Given the description of an element on the screen output the (x, y) to click on. 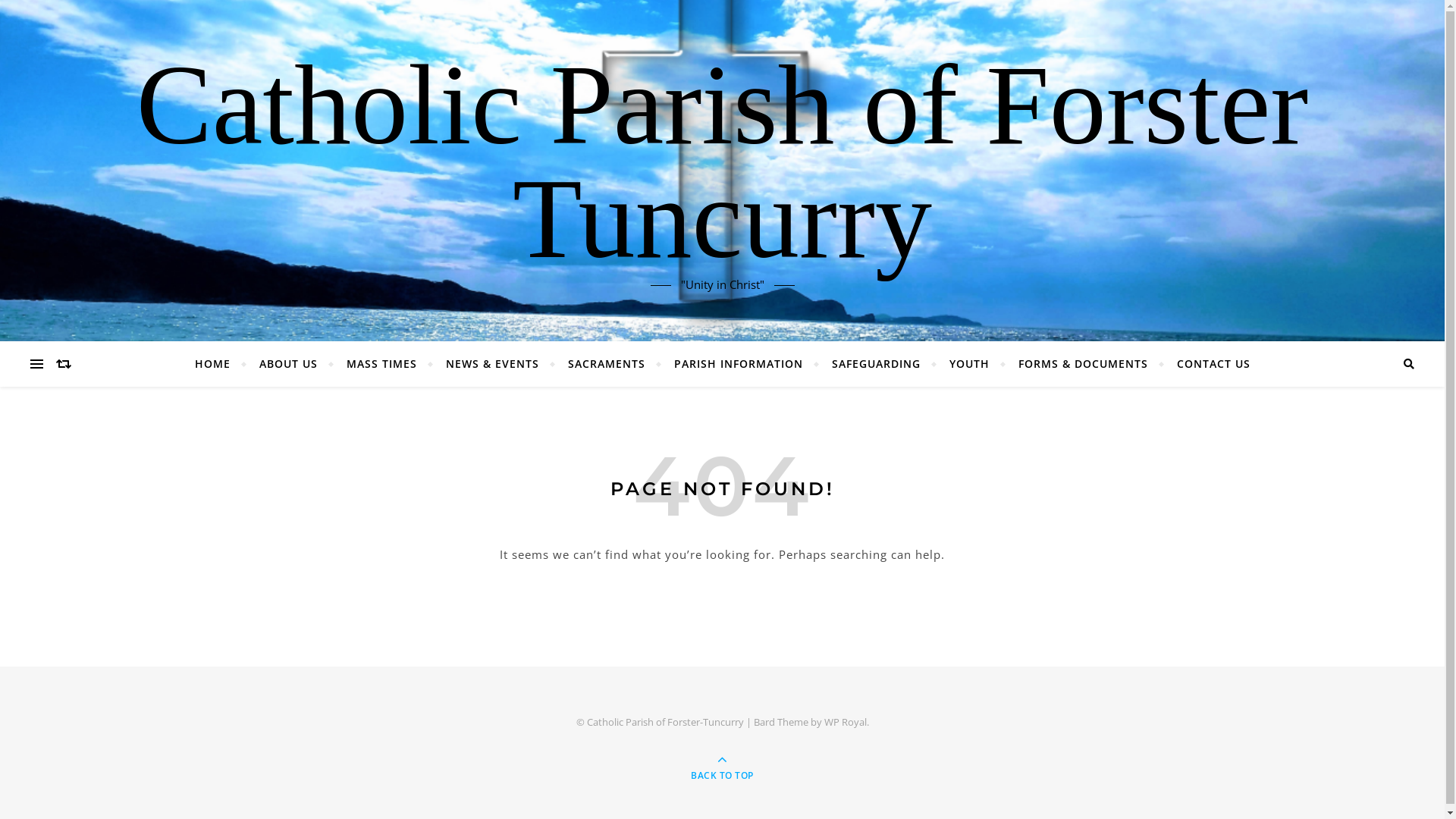
Catholic Parish of Forster Tuncurry Element type: text (722, 160)
YOUTH Element type: text (968, 363)
PARISH INFORMATION Element type: text (738, 363)
FORMS & DOCUMENTS Element type: text (1083, 363)
SAFEGUARDING Element type: text (876, 363)
CONTACT US Element type: text (1206, 363)
SACRAMENTS Element type: text (606, 363)
ABOUT US Element type: text (287, 363)
HOME Element type: text (218, 363)
MASS TIMES Element type: text (381, 363)
NEWS & EVENTS Element type: text (491, 363)
WP Royal Element type: text (844, 721)
